Given the description of an element on the screen output the (x, y) to click on. 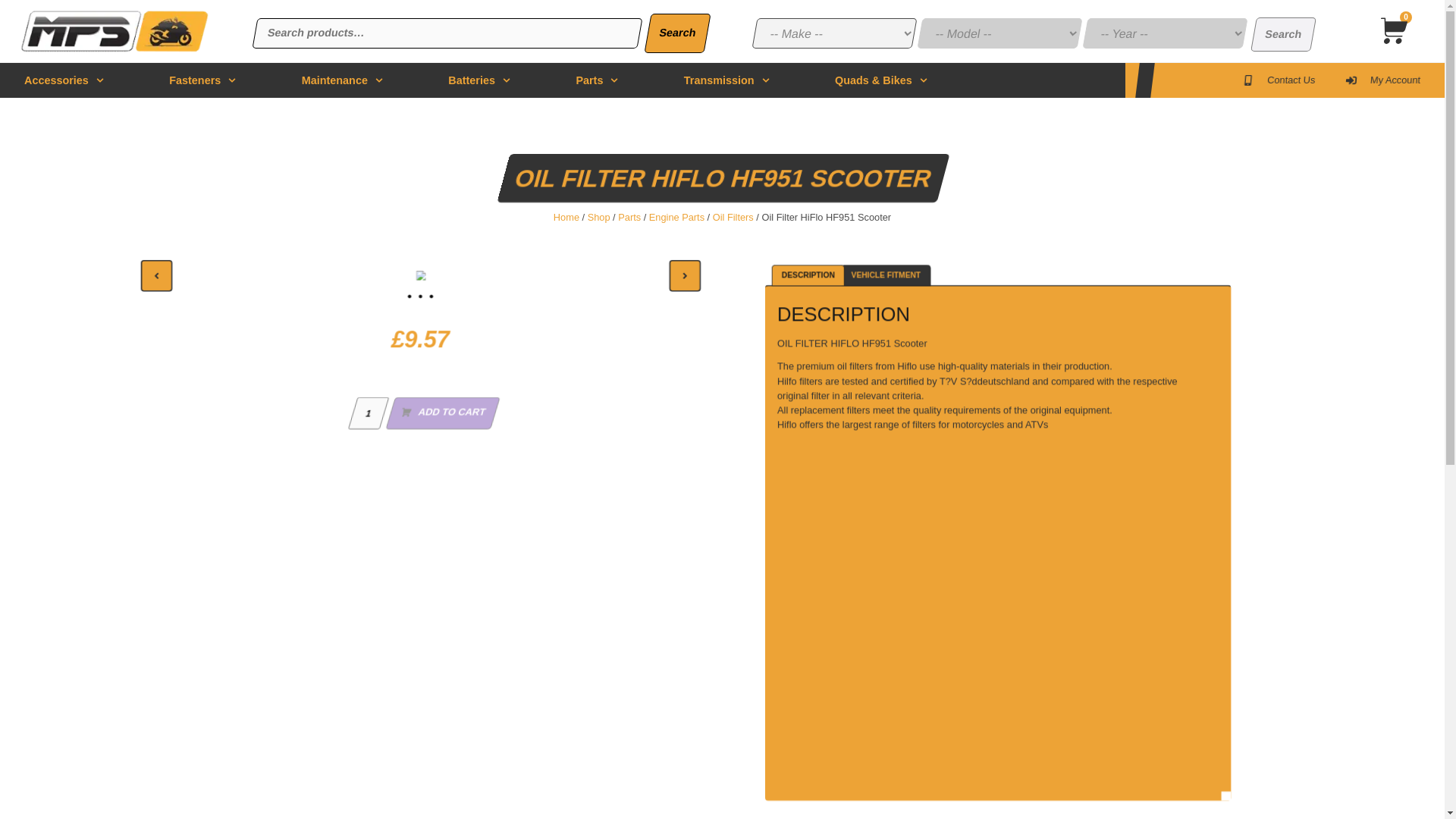
OIL FILTER HIFLO HF951 Scooter (487, 276)
PayPal (483, 460)
1 (367, 417)
Fasteners (201, 80)
Oil Filter HiFlo HF951 Scooter (114, 31)
Maintenance (341, 80)
Accessories (63, 80)
Search (1280, 34)
0 (1392, 32)
Oil Filter HiFlo HF951 Scooter (421, 276)
Search (674, 33)
Search (1280, 34)
